Given the description of an element on the screen output the (x, y) to click on. 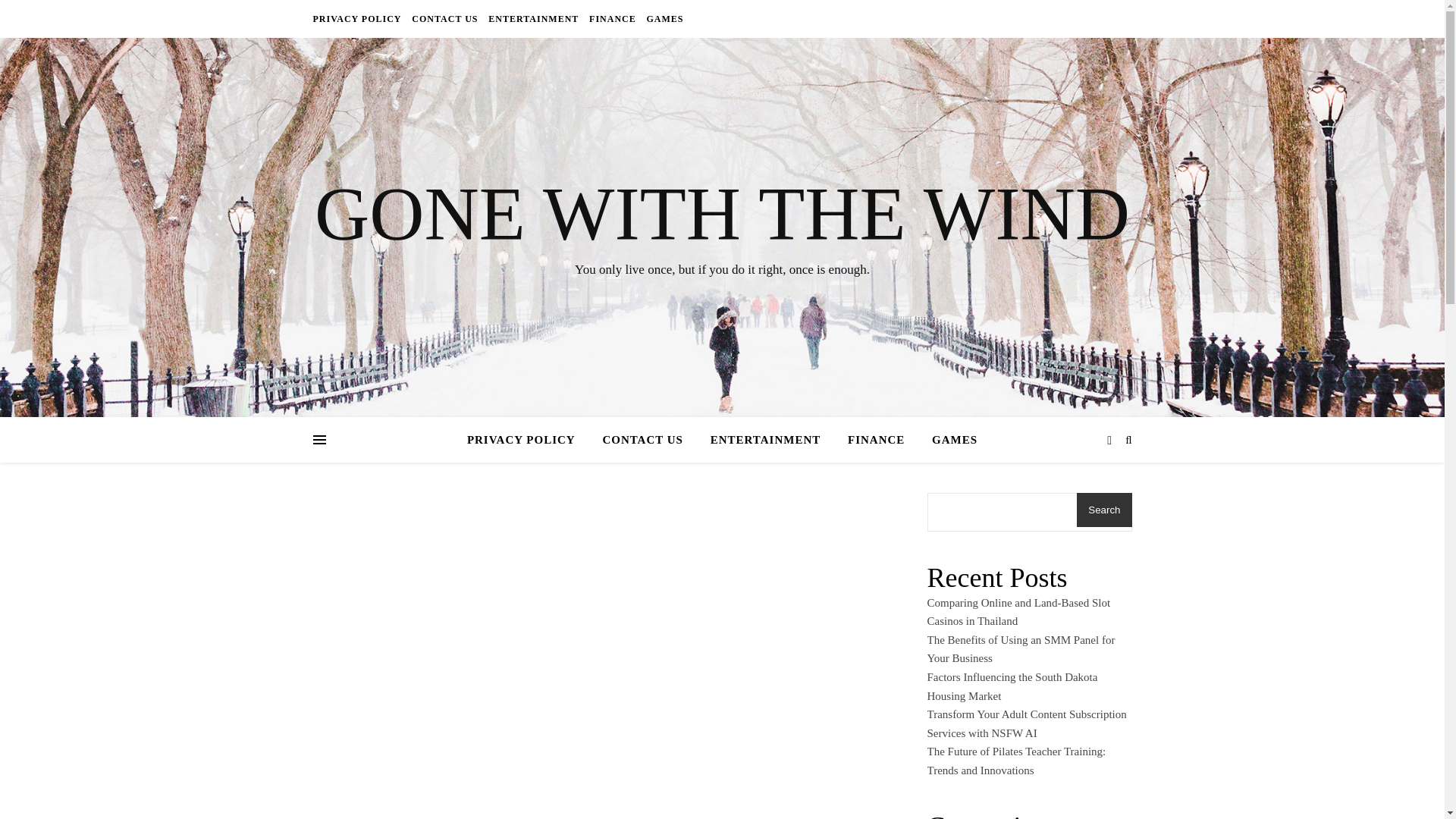
FINANCE (612, 18)
GAMES (948, 439)
Factors Influencing the South Dakota Housing Market (1011, 685)
FINANCE (876, 439)
Search (1104, 510)
ENTERTAINMENT (765, 439)
ENTERTAINMENT (533, 18)
Comparing Online and Land-Based Slot Casinos in Thailand (1017, 612)
The Benefits of Using an SMM Panel for Your Business (1020, 649)
CONTACT US (642, 439)
PRIVACY POLICY (358, 18)
PRIVACY POLICY (527, 439)
CONTACT US (444, 18)
